Given the description of an element on the screen output the (x, y) to click on. 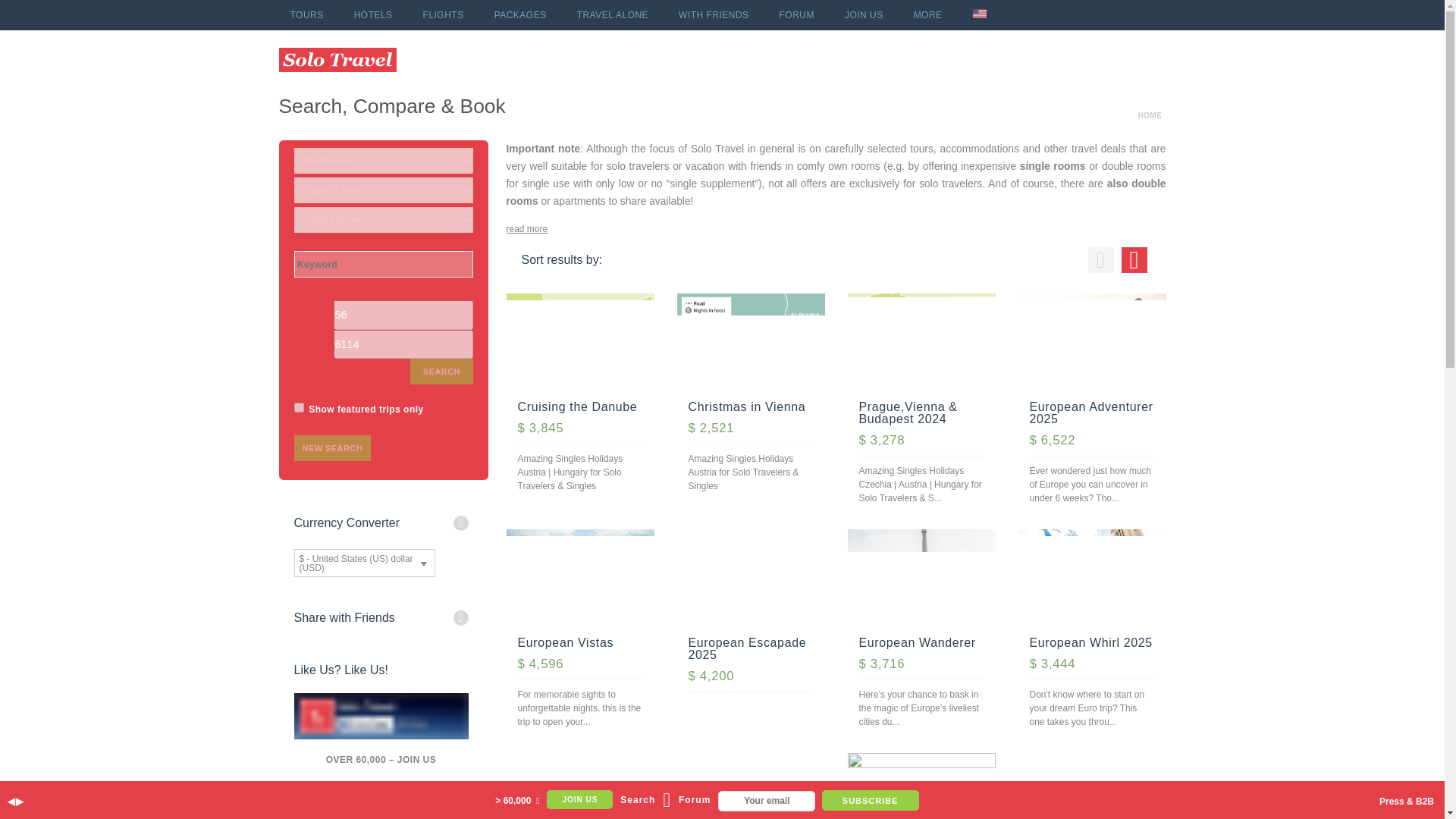
JOIN US (863, 15)
6114 (403, 344)
FORUM (796, 15)
FLIGHTS (444, 15)
TRAVEL ALONE (612, 15)
MORE (927, 15)
Subscribe (870, 800)
HOTELS (373, 15)
WITH FRIENDS (713, 15)
PACKAGES (520, 15)
